Given the description of an element on the screen output the (x, y) to click on. 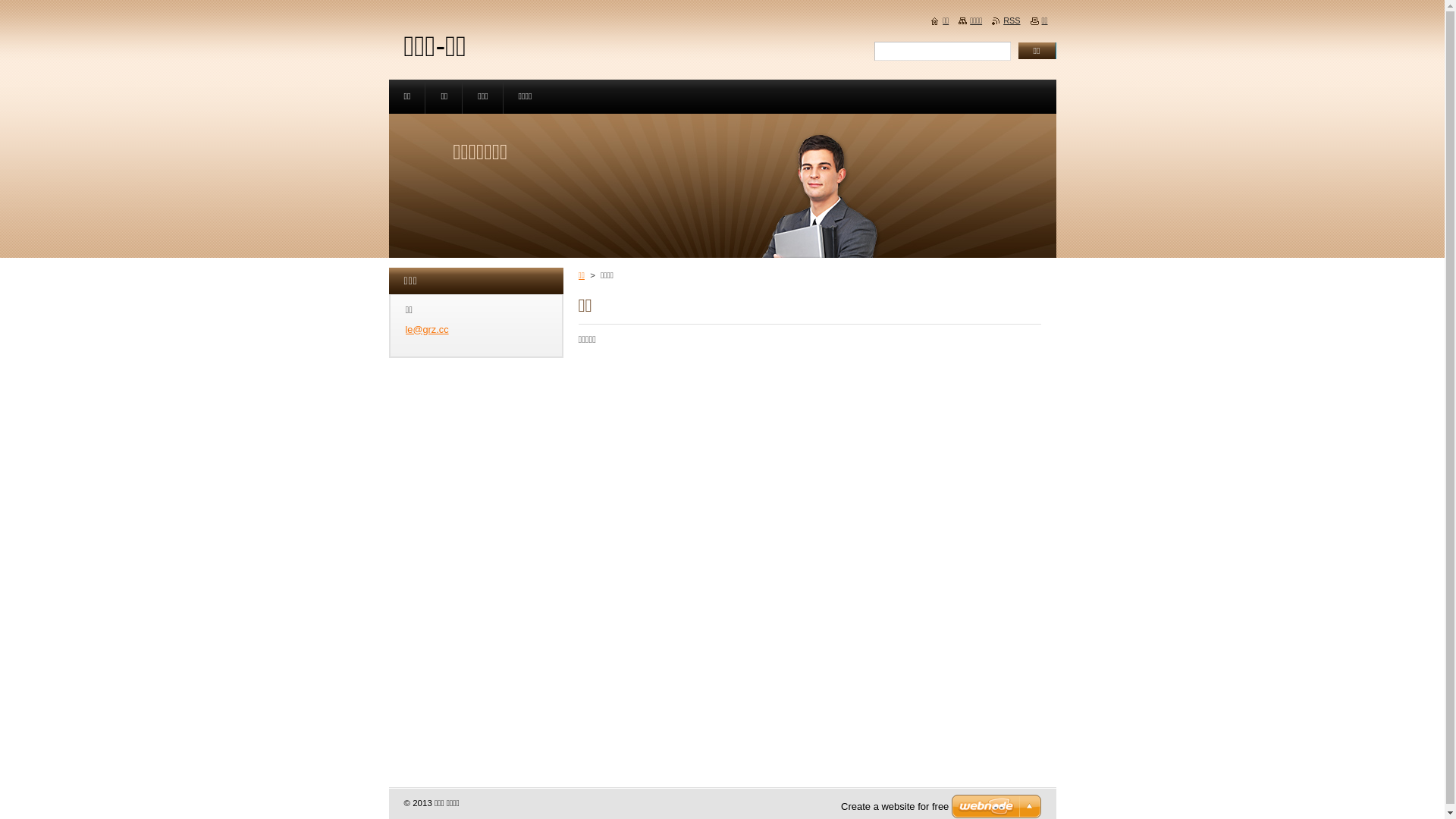
Create a website for free Element type: text (894, 806)
RSS Element type: text (1005, 20)
le@grz.cc Element type: text (426, 329)
